Given the description of an element on the screen output the (x, y) to click on. 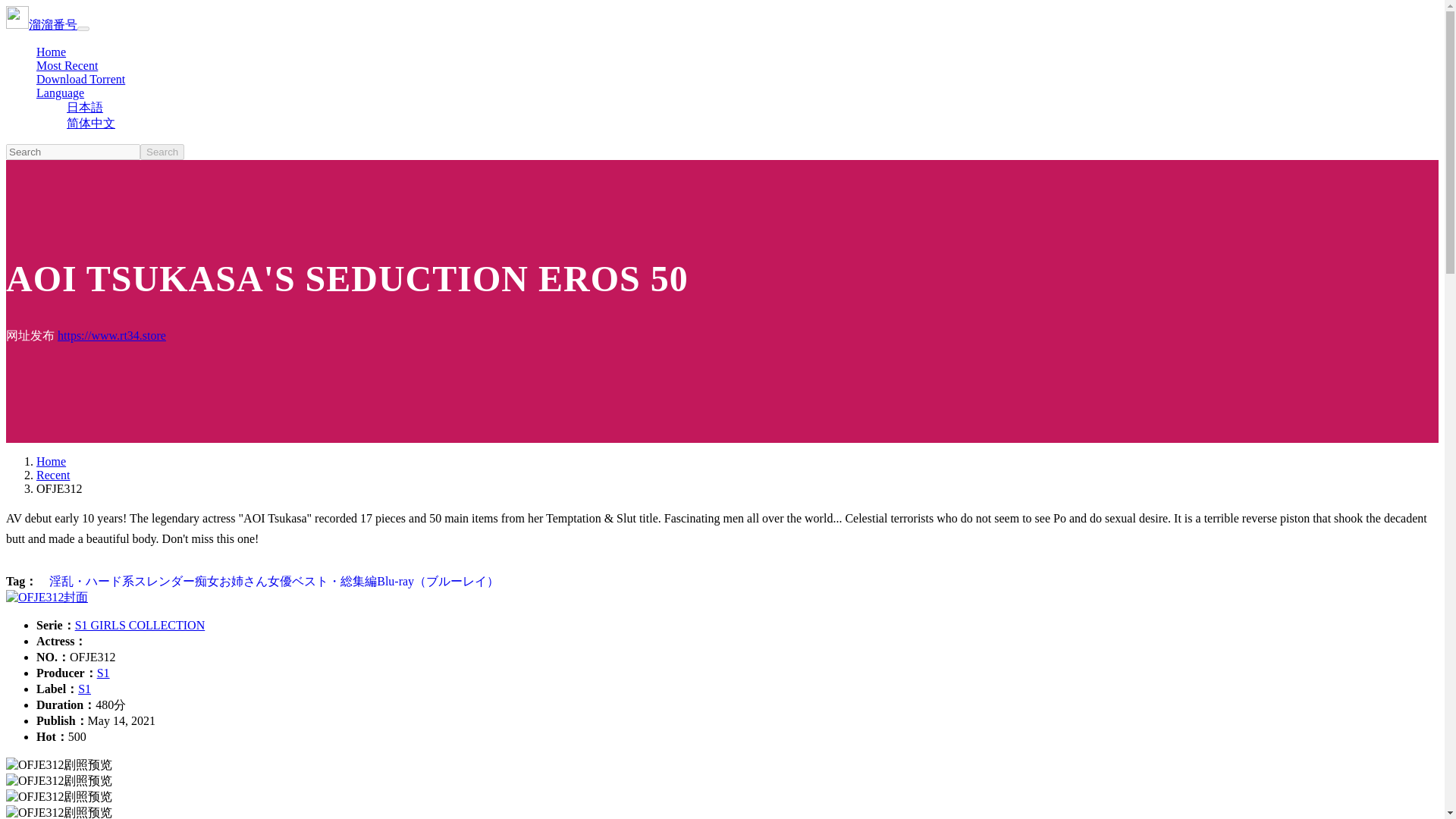
Language (60, 92)
Home (50, 51)
S1 GIRLS COLLECTION (140, 625)
S1 (103, 672)
Home (50, 461)
S1 (84, 688)
Most Recent (66, 65)
Search (161, 151)
Recent (52, 474)
Download Torrent (80, 78)
